Given the description of an element on the screen output the (x, y) to click on. 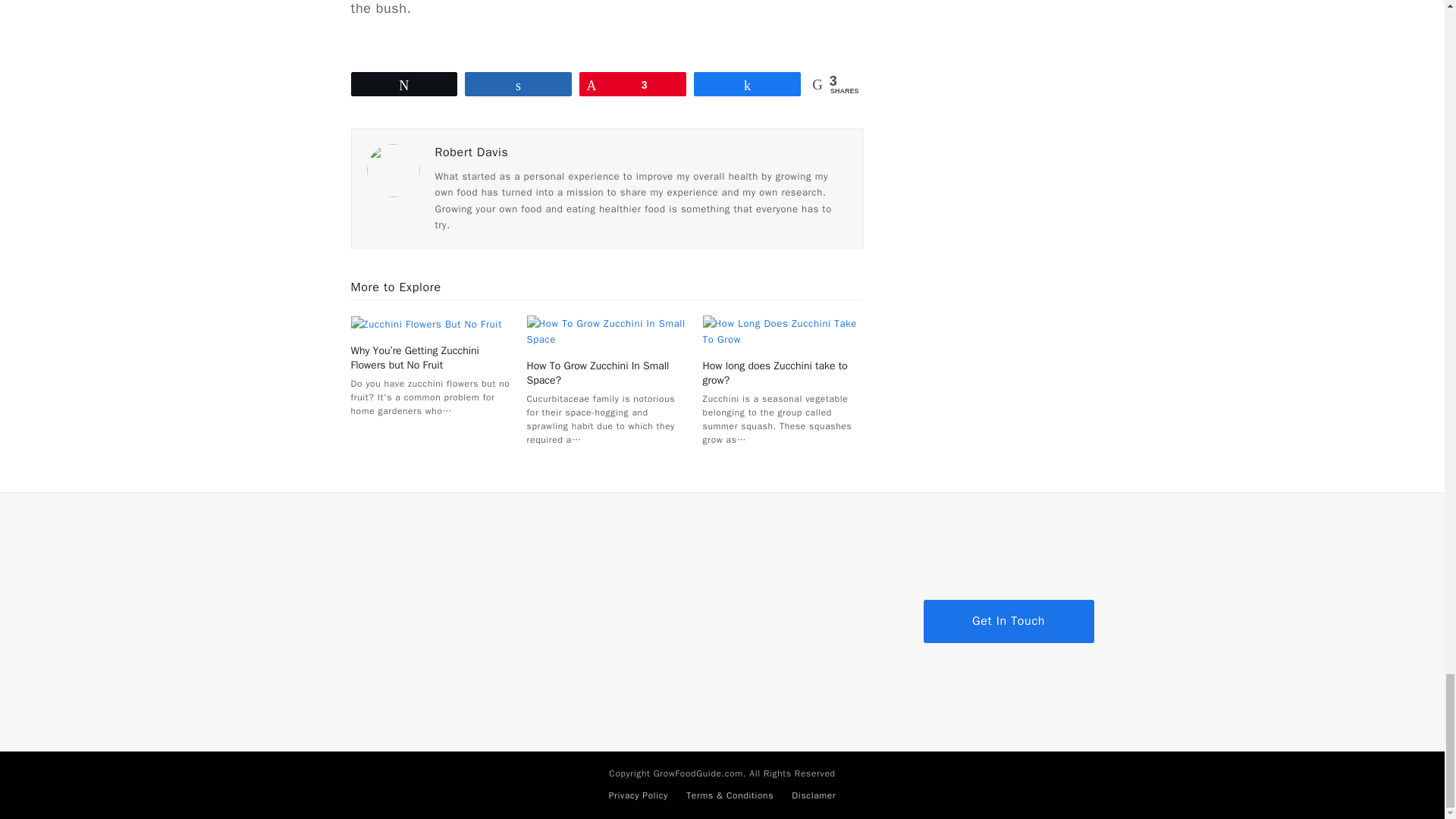
How long does Zucchini take to grow? (775, 372)
How To Grow Zucchini In Small Space? (607, 329)
Privacy Policy (638, 795)
Disclamer (813, 795)
Robert Davis (471, 151)
Get In Touch (1008, 620)
How To Grow Zucchini In Small Space? (598, 372)
3 (632, 83)
How long does Zucchini take to grow? (783, 329)
Visit Author Page (393, 169)
Visit Author Page (471, 151)
